Given the description of an element on the screen output the (x, y) to click on. 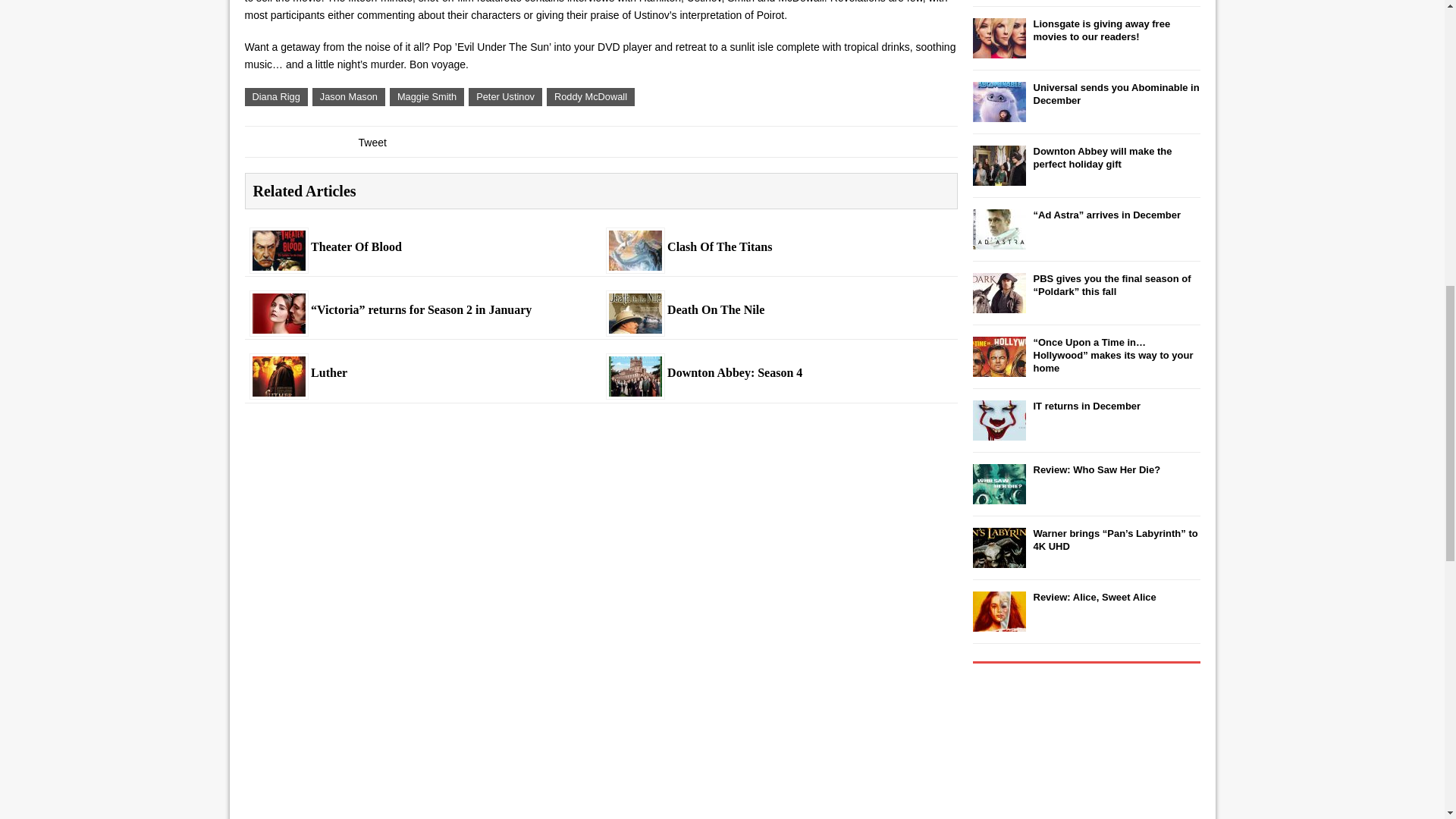
Clash Of The Titans (635, 261)
Tweet (371, 142)
Downton Abbey: Season 4 (777, 373)
Downton Abbey: Season 4 (635, 387)
Theater Of Blood (421, 247)
Diana Rigg (275, 96)
Death On The Nile (635, 325)
Maggie Smith (427, 96)
Clash Of The Titans (777, 247)
Peter Ustinov (504, 96)
Luther (278, 387)
Theater Of Blood (278, 261)
Roddy McDowall (590, 96)
Jason Mason (349, 96)
Death On The Nile (777, 310)
